Given the description of an element on the screen output the (x, y) to click on. 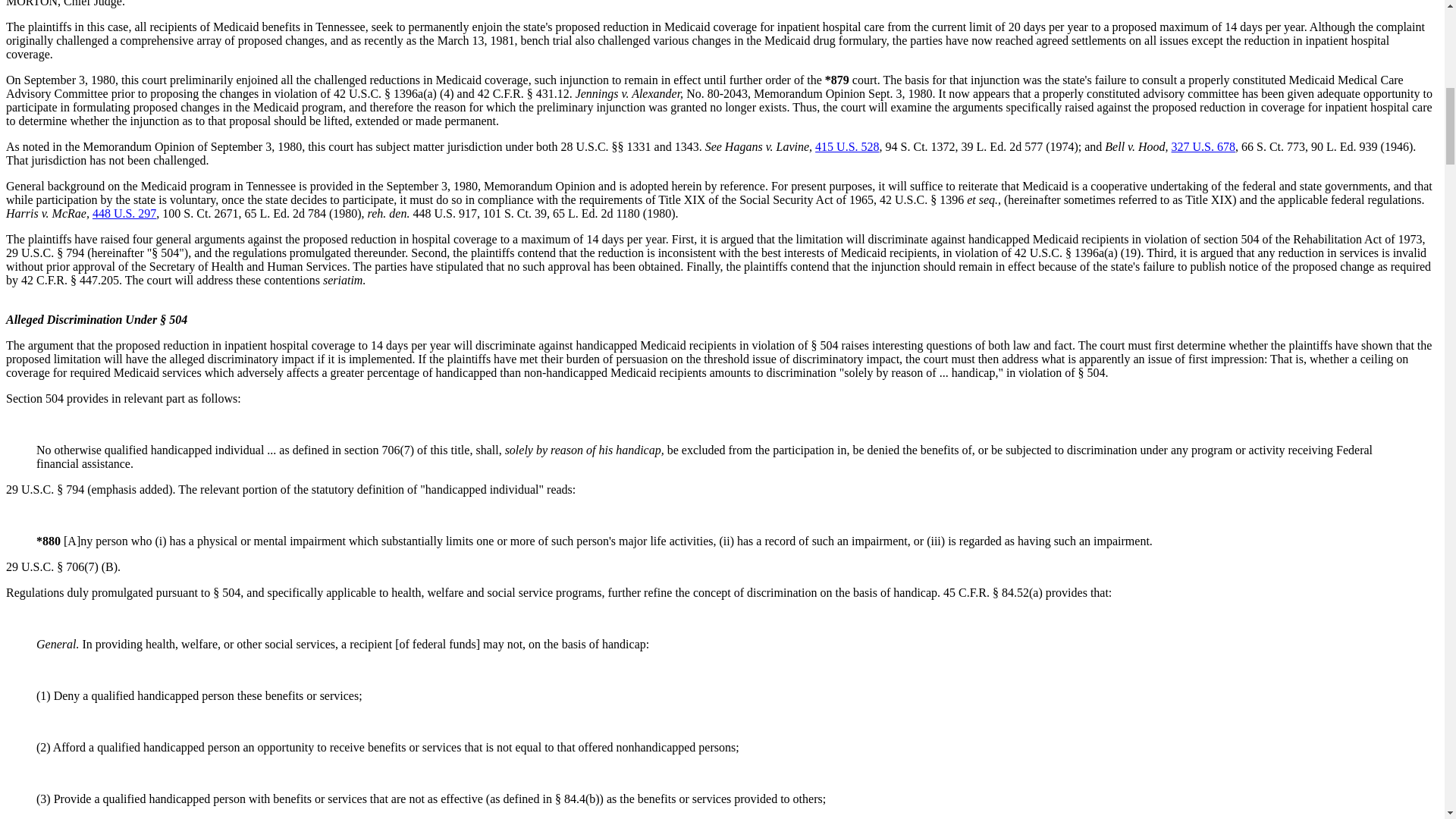
327 U.S. 678 (1203, 146)
415 U.S. 528 (847, 146)
448 U.S. 297 (124, 213)
